Given the description of an element on the screen output the (x, y) to click on. 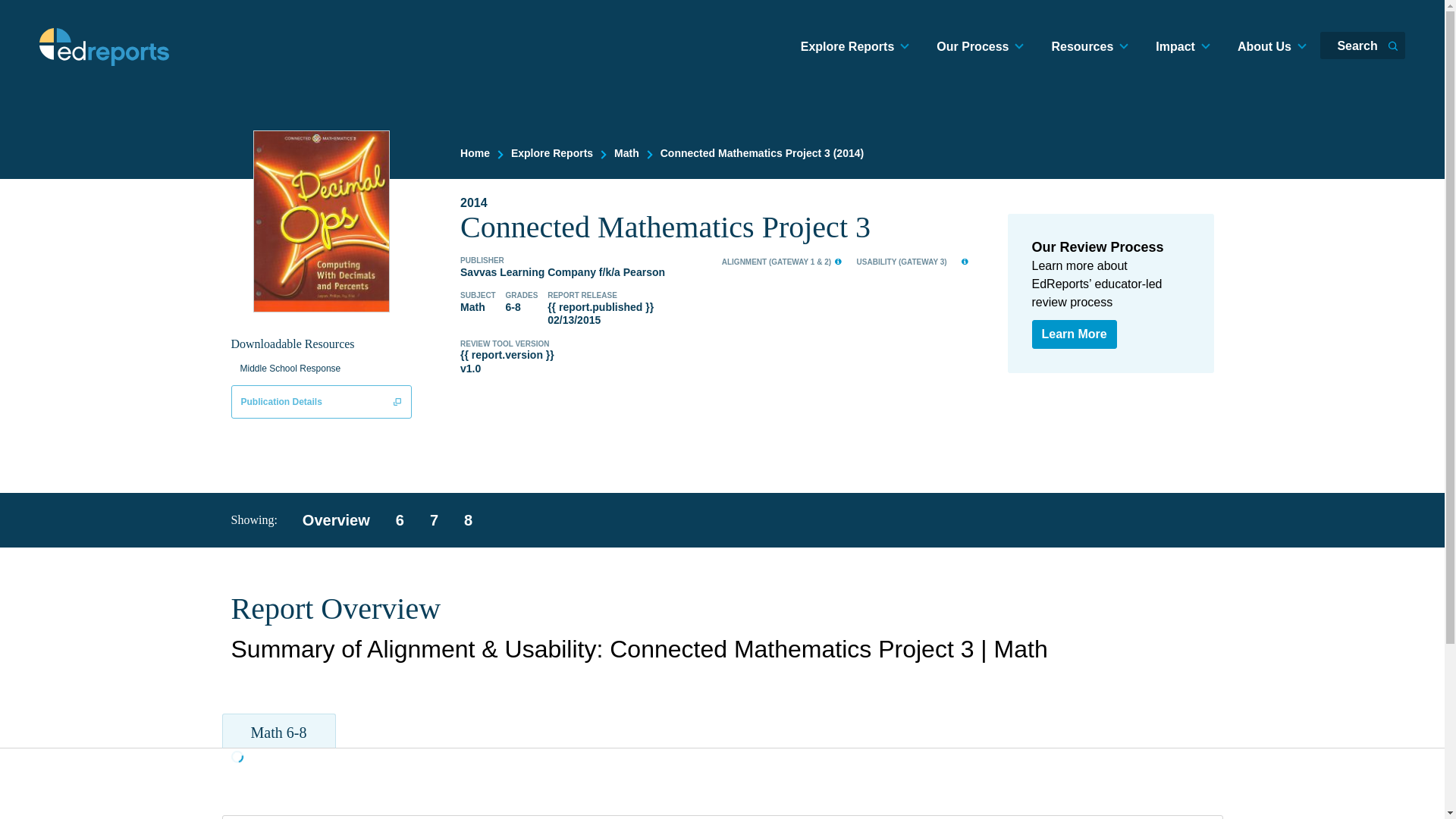
Explore Reports (855, 46)
Publication Details (321, 401)
Math (626, 152)
Middle School Response (292, 368)
Resources (1088, 46)
Edition: 2014 (724, 202)
Home (474, 152)
EdReports (105, 46)
Explore Reports (551, 152)
Learn More (1073, 334)
